Given the description of an element on the screen output the (x, y) to click on. 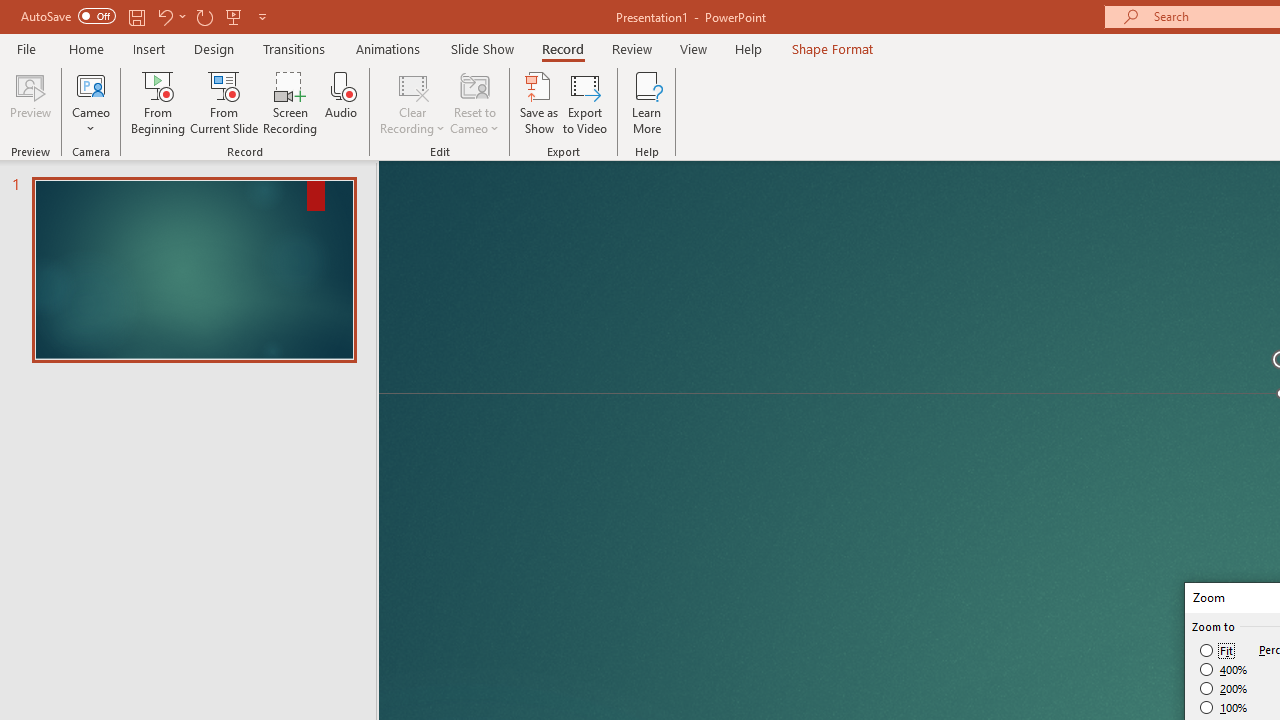
200% (1224, 688)
Reset to Cameo (474, 102)
Save as Show (539, 102)
Screen Recording (290, 102)
